Given the description of an element on the screen output the (x, y) to click on. 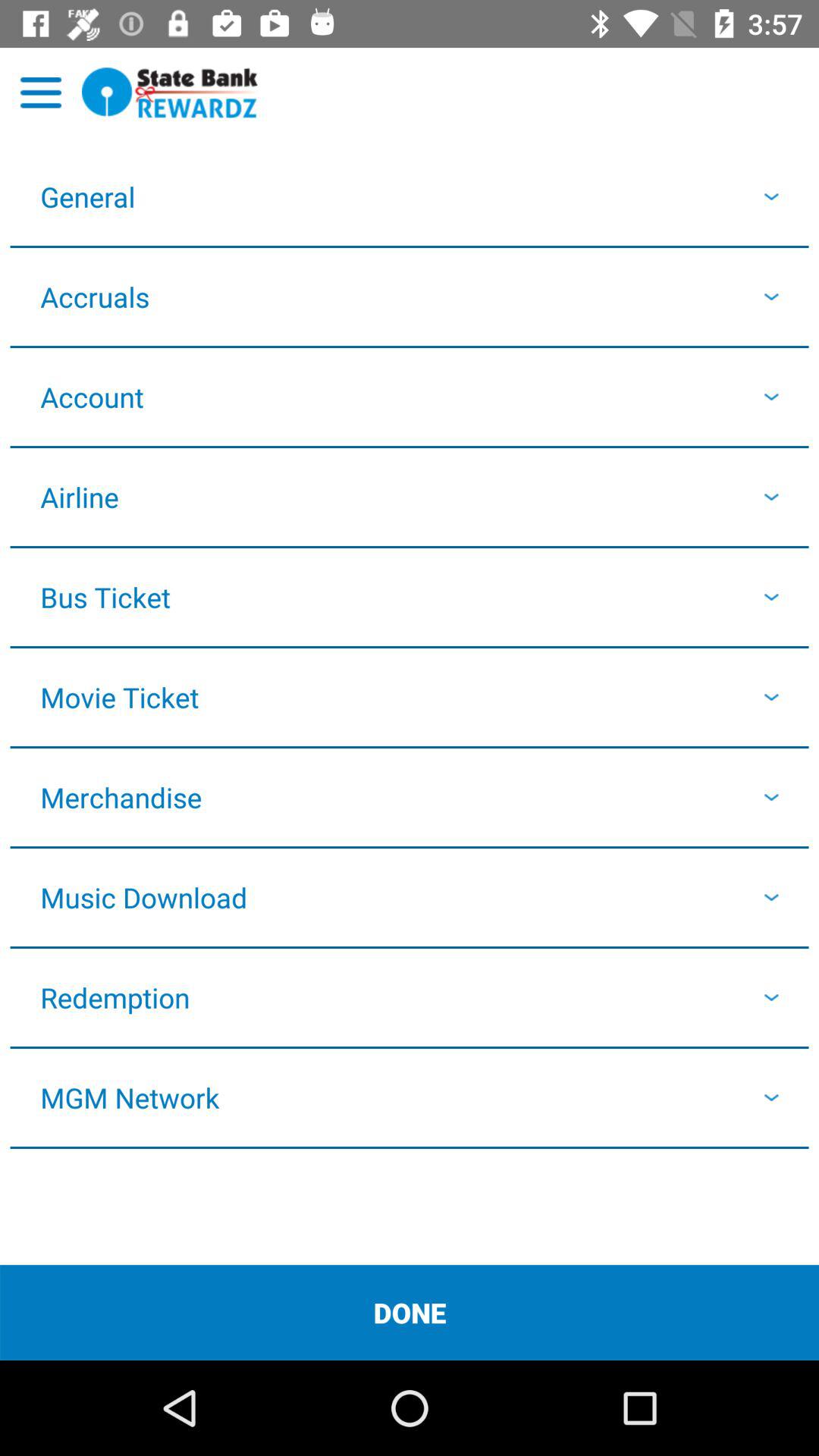
sbi rewardz logo (169, 92)
